Given the description of an element on the screen output the (x, y) to click on. 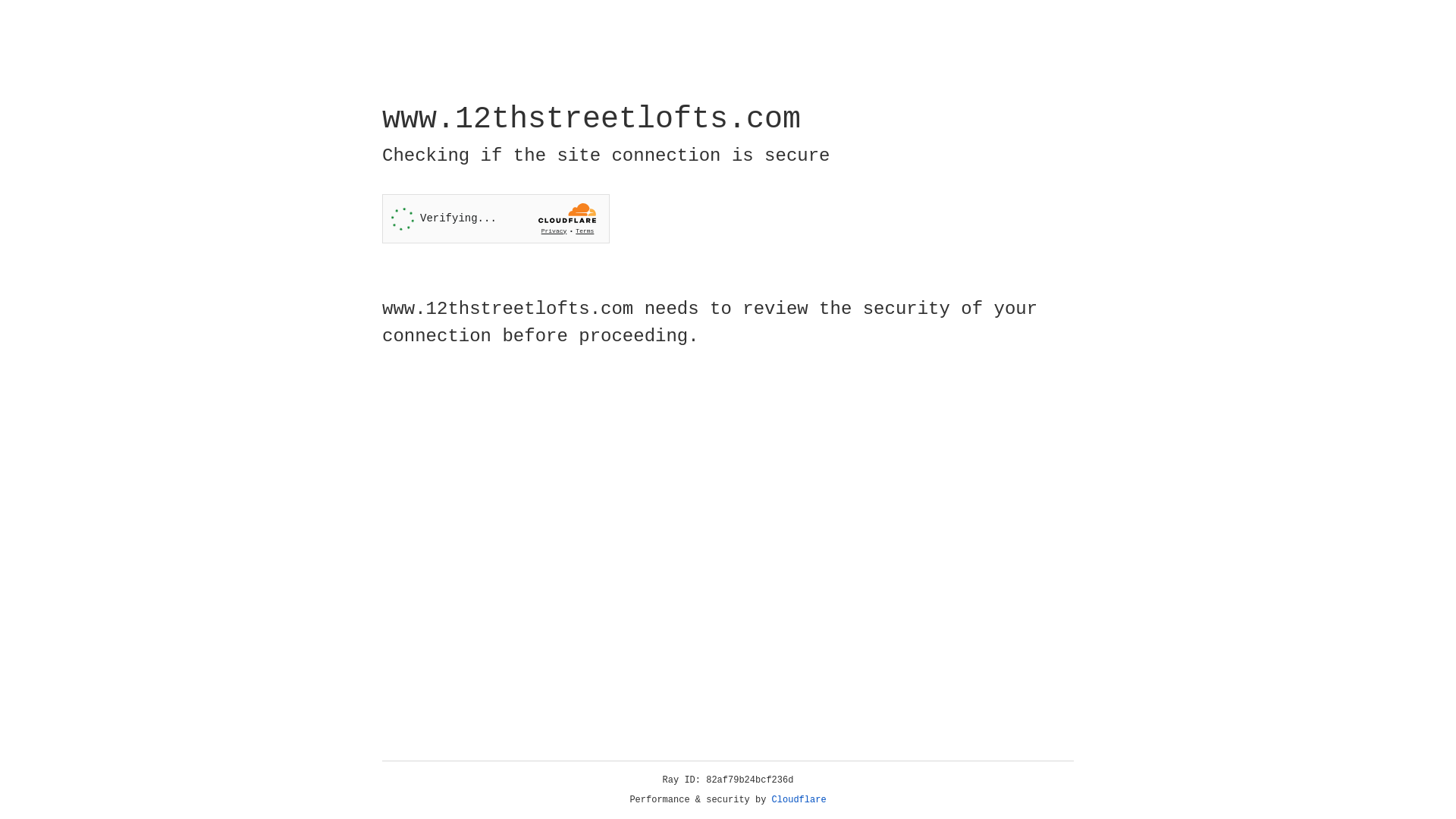
Cloudflare Element type: text (798, 799)
Widget containing a Cloudflare security challenge Element type: hover (495, 218)
